Given the description of an element on the screen output the (x, y) to click on. 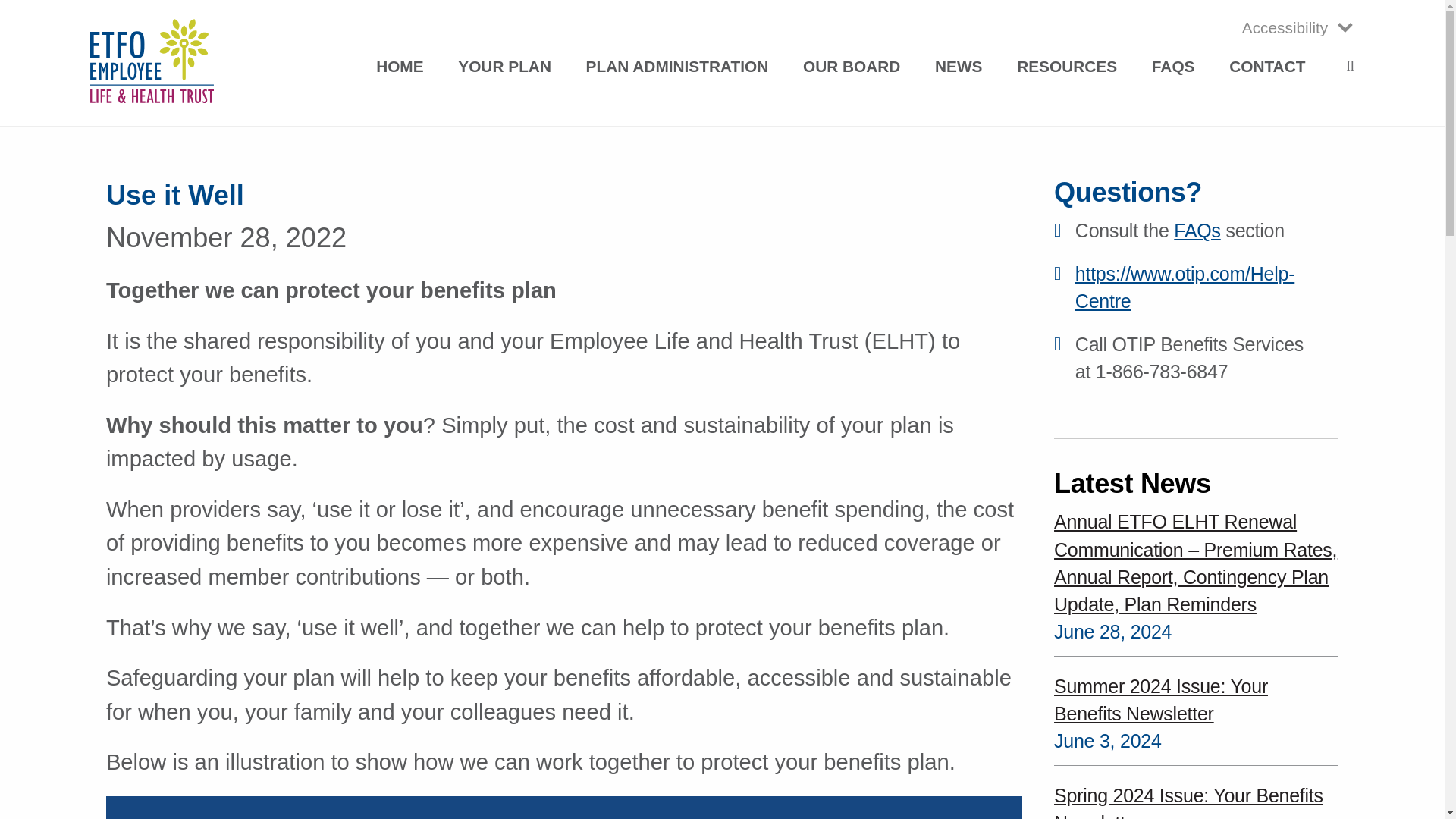
PLAN ADMINISTRATION (677, 66)
NEWS (958, 66)
RESOURCES (1066, 66)
Summer 2024 Issue: Your Benefits Newsletter (1196, 699)
FAQs (1197, 230)
FAQS (1173, 66)
CONTACT (1266, 66)
HOME (399, 66)
OUR BOARD (851, 66)
Spring 2024 Issue: Your Benefits Newsletter (1196, 800)
Accessibility (1289, 27)
YOUR PLAN (504, 66)
